Given the description of an element on the screen output the (x, y) to click on. 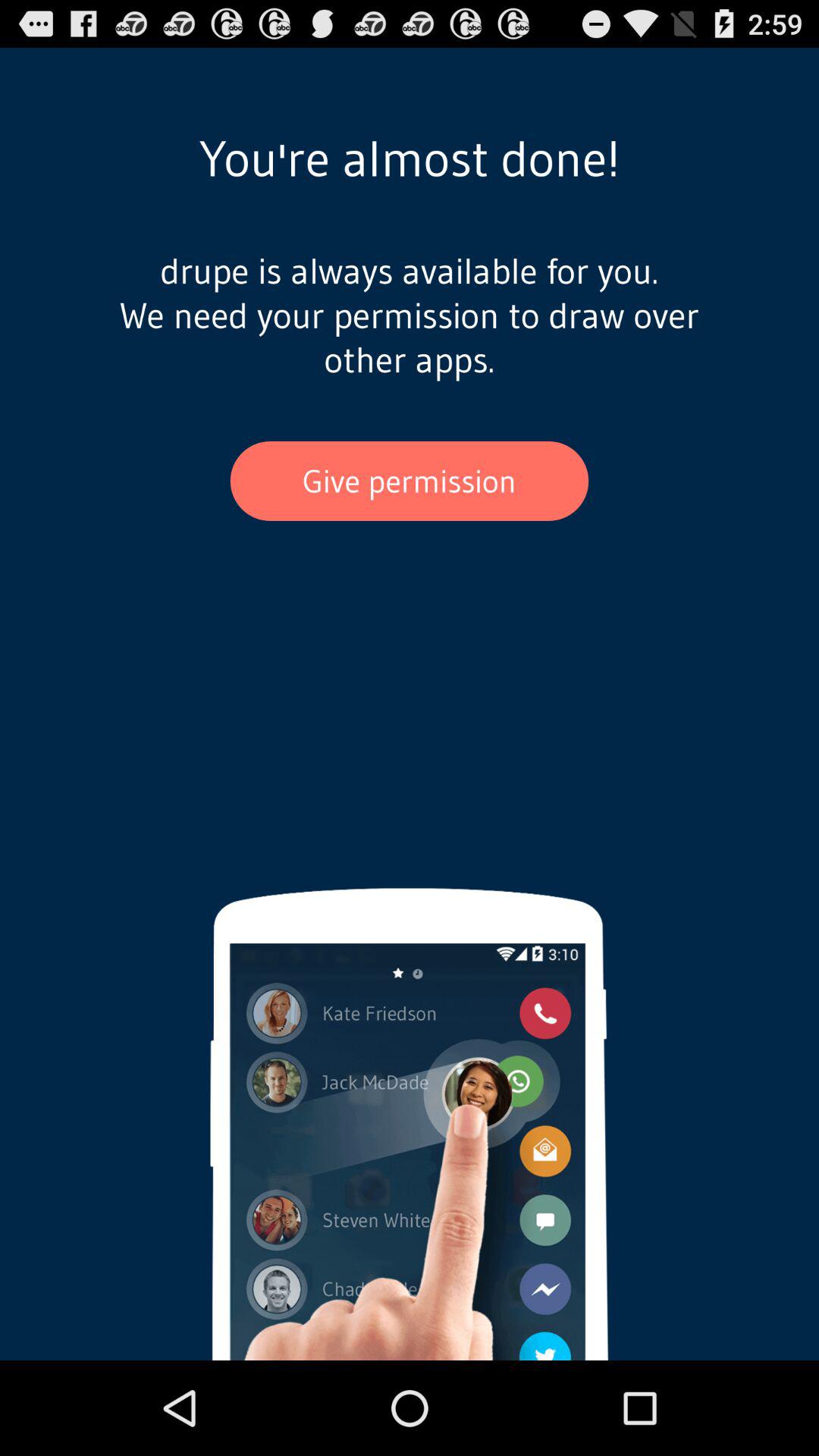
jump until give permission item (409, 480)
